Given the description of an element on the screen output the (x, y) to click on. 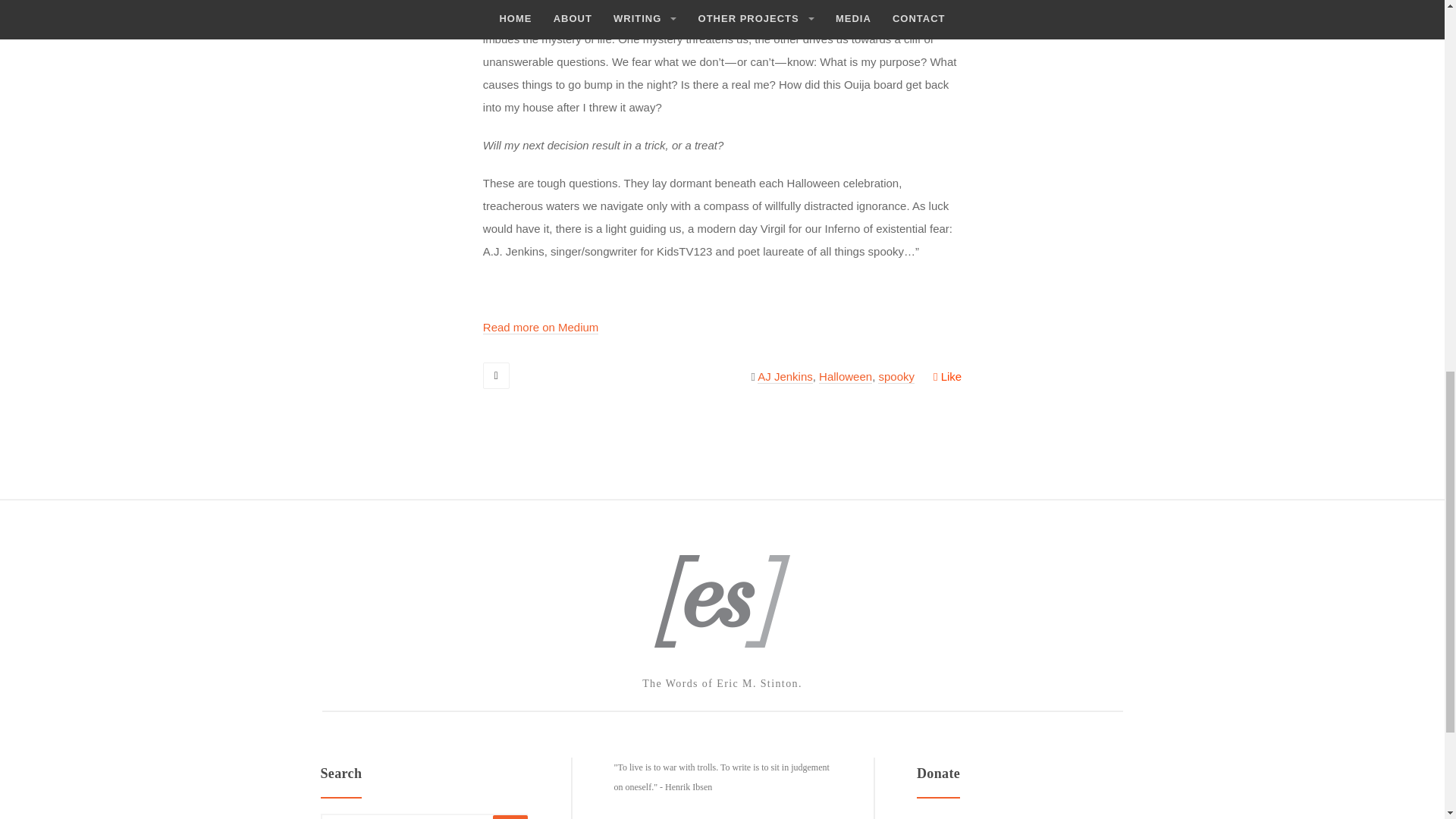
 Like (946, 376)
Like (946, 376)
Type and hit enter... (423, 816)
Read more on Medium (540, 327)
AJ Jenkins (784, 377)
Share on Twitter (496, 375)
Halloween (845, 377)
spooky (895, 377)
